Given the description of an element on the screen output the (x, y) to click on. 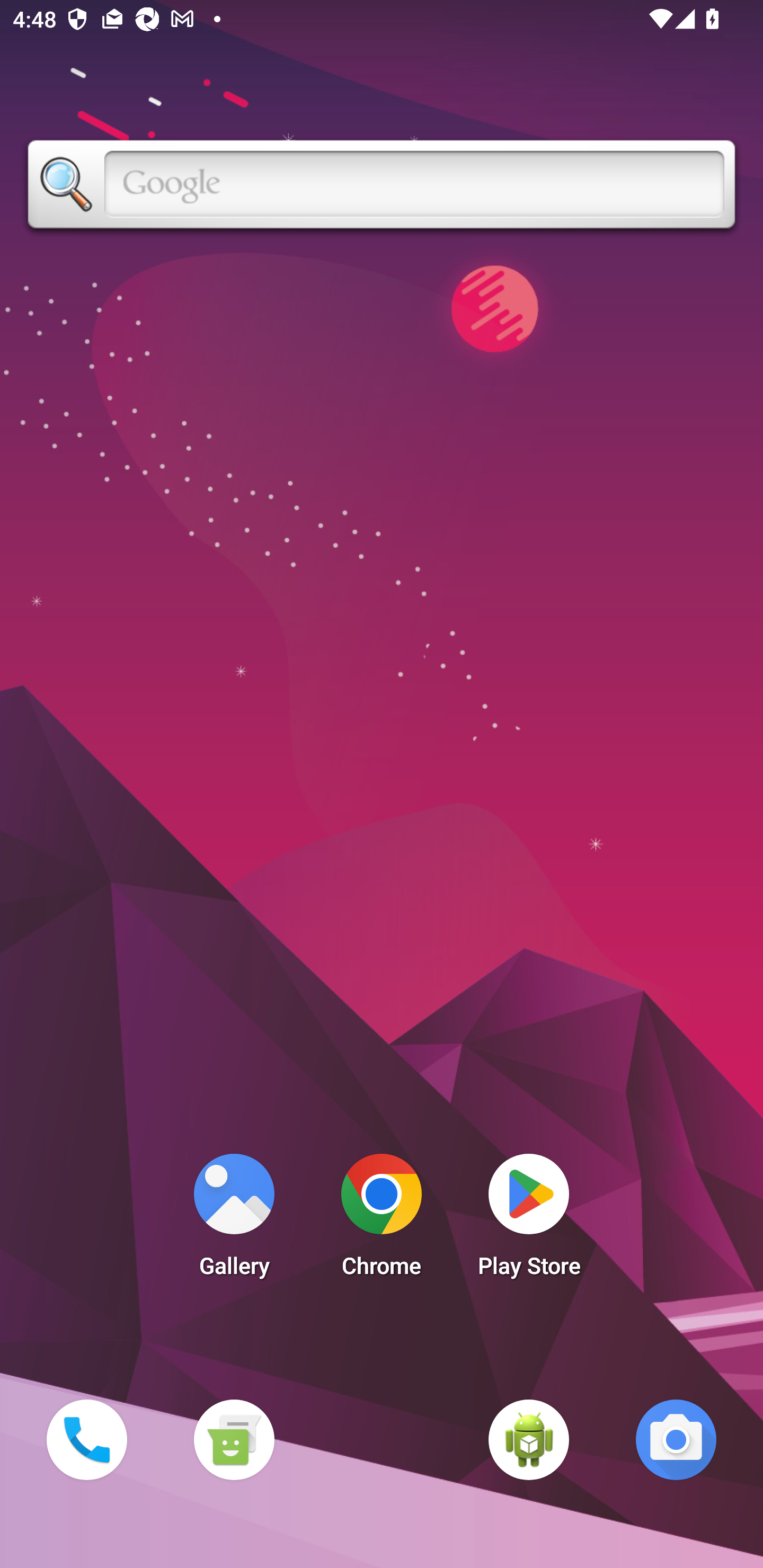
Gallery (233, 1220)
Chrome (381, 1220)
Play Store (528, 1220)
Phone (86, 1439)
Messaging (233, 1439)
WebView Browser Tester (528, 1439)
Camera (676, 1439)
